Given the description of an element on the screen output the (x, y) to click on. 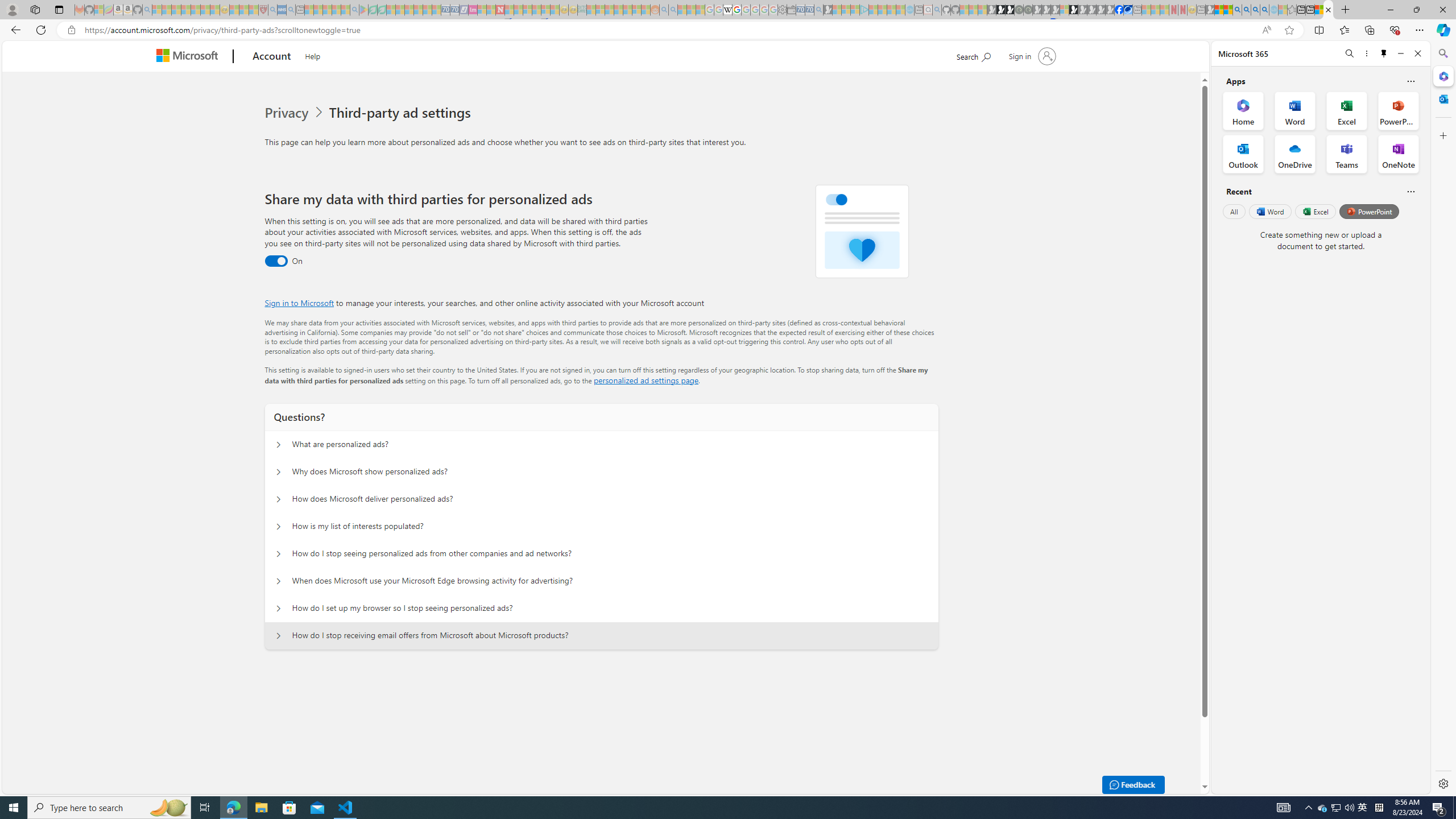
OneNote Office App (1398, 154)
Outlook Office App (1243, 154)
